Given the description of an element on the screen output the (x, y) to click on. 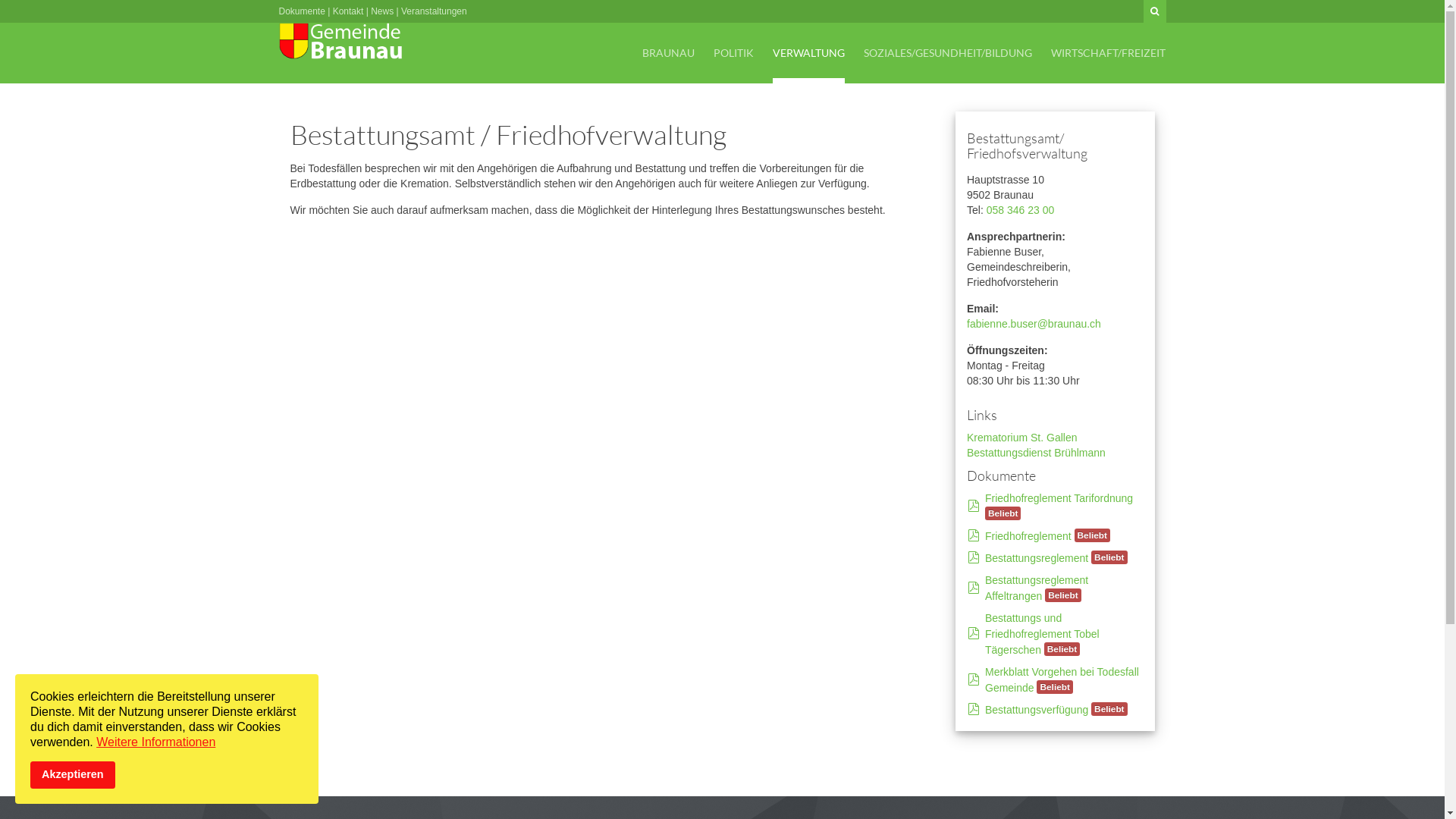
pdf Element type: text (973, 506)
Bestattungsreglement Affeltrangen Element type: text (1036, 588)
pdf Element type: text (973, 679)
pdf Element type: text (973, 536)
Bestattungsreglement Element type: text (1036, 558)
Akzeptieren Element type: text (72, 774)
WIRTSCHAFT/FREIZEIT Element type: text (1108, 52)
058 346 23 00 Element type: text (1020, 209)
Friedhofreglement Element type: text (1028, 536)
Dokumente Element type: text (302, 11)
Weitere Informationen Element type: text (155, 741)
News Element type: text (381, 11)
SOZIALES/GESUNDHEIT/BILDUNG Element type: text (947, 52)
pdf Element type: text (973, 588)
pdf Element type: text (973, 558)
Merkblatt Vorgehen bei Todesfall Gemeinde Element type: text (1062, 679)
fabienne.buser@braunau.ch Element type: text (1033, 323)
Veranstaltungen Element type: text (434, 11)
pdf Element type: text (973, 633)
Kontakt Element type: text (348, 11)
VERWALTUNG Element type: text (808, 52)
Krematorium St. Gallen Element type: text (1021, 437)
pdf Element type: text (973, 709)
Friedhofreglement Tarifordnung Element type: text (1058, 498)
POLITIK Element type: text (733, 52)
BRAUNAU Element type: text (668, 52)
